Given the description of an element on the screen output the (x, y) to click on. 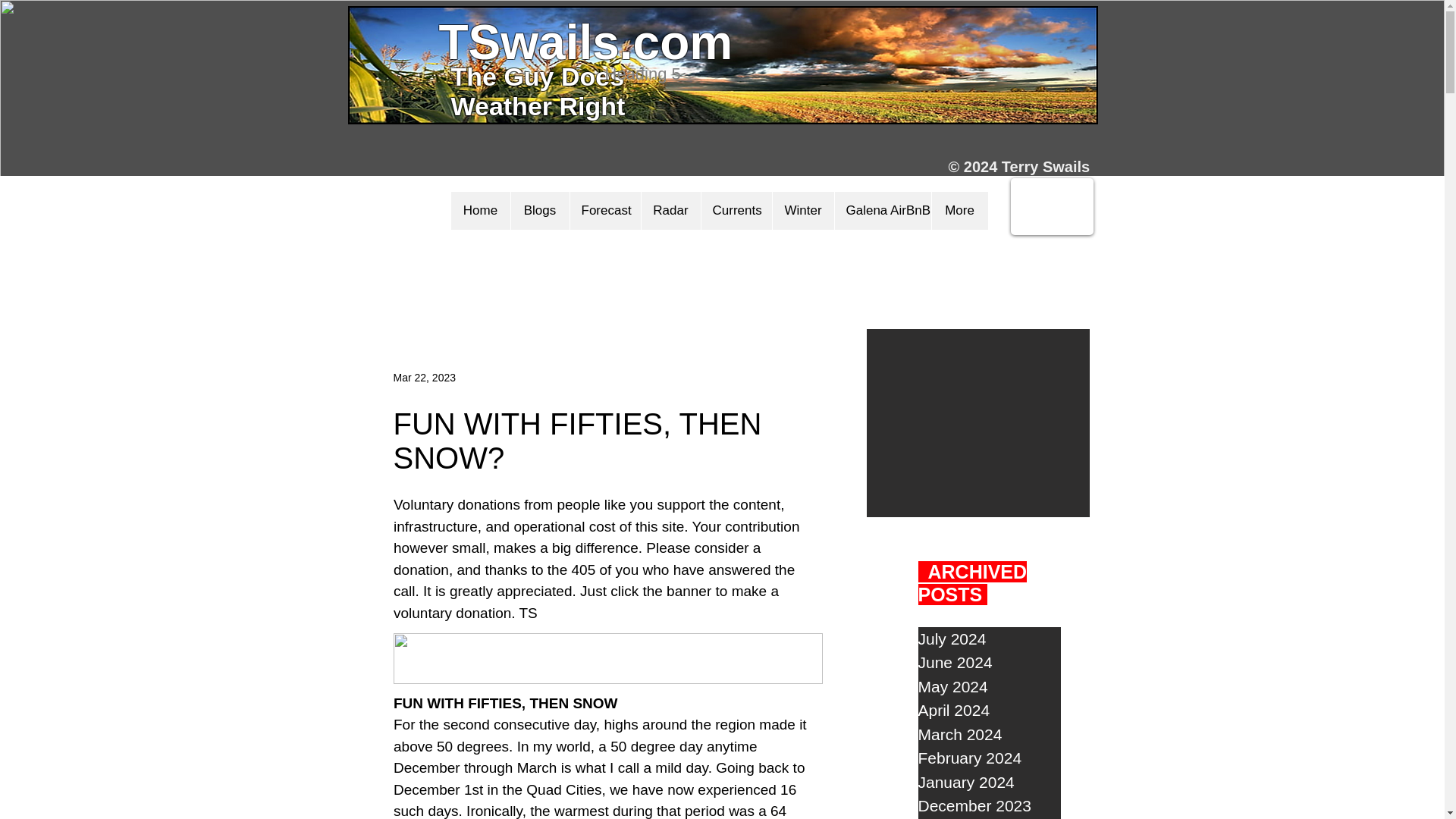
Forecast (604, 210)
TSwails.com (585, 42)
Radar (670, 210)
Home (479, 210)
Galena AirBnB (882, 210)
Winter (802, 210)
Currents (735, 210)
Mar 22, 2023 (424, 377)
